Given the description of an element on the screen output the (x, y) to click on. 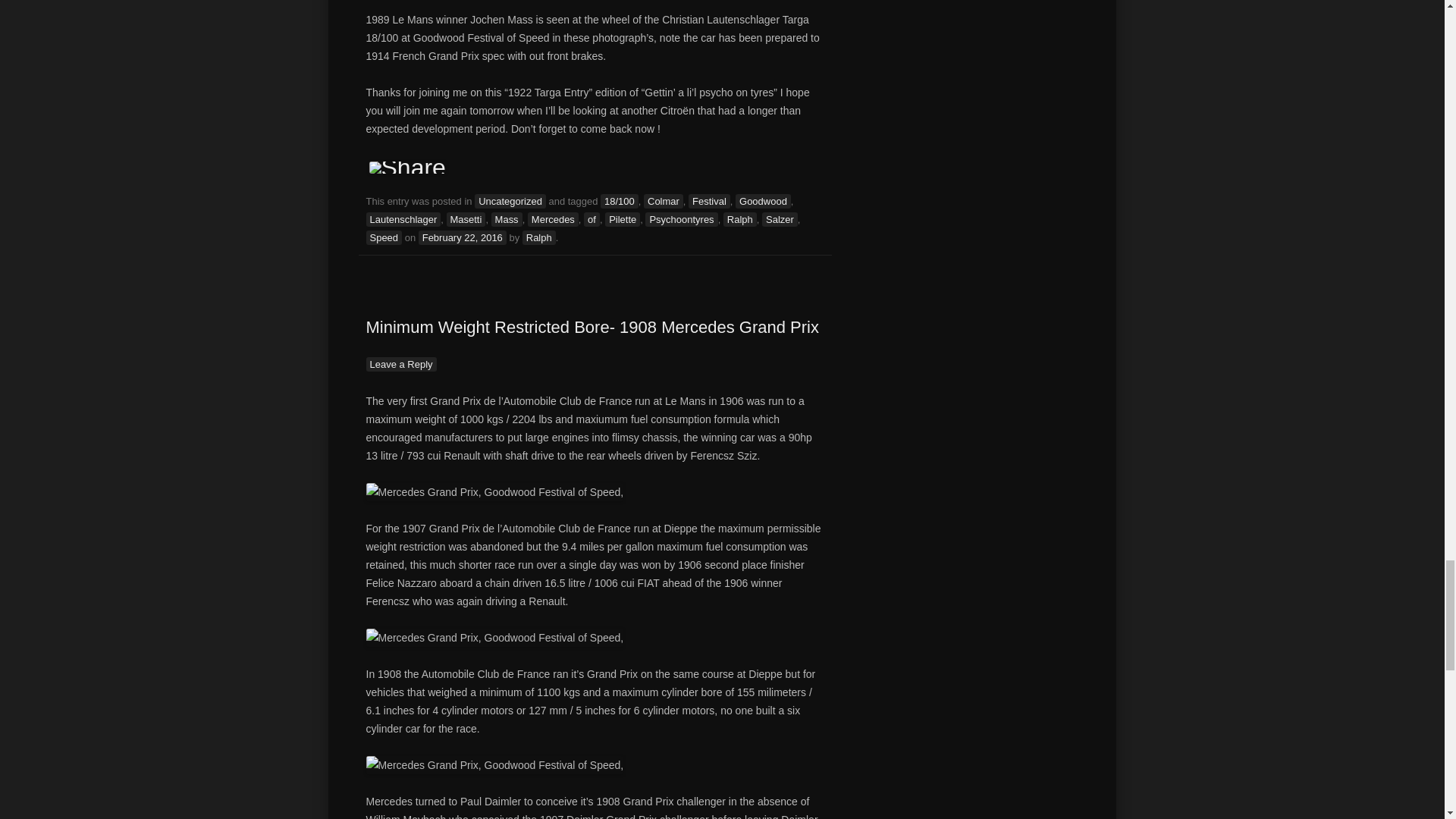
View all posts by Ralph (539, 237)
12:01 am (462, 237)
Colmar (662, 201)
Goodwood (762, 201)
Festival (709, 201)
Uncategorized (510, 201)
